Given the description of an element on the screen output the (x, y) to click on. 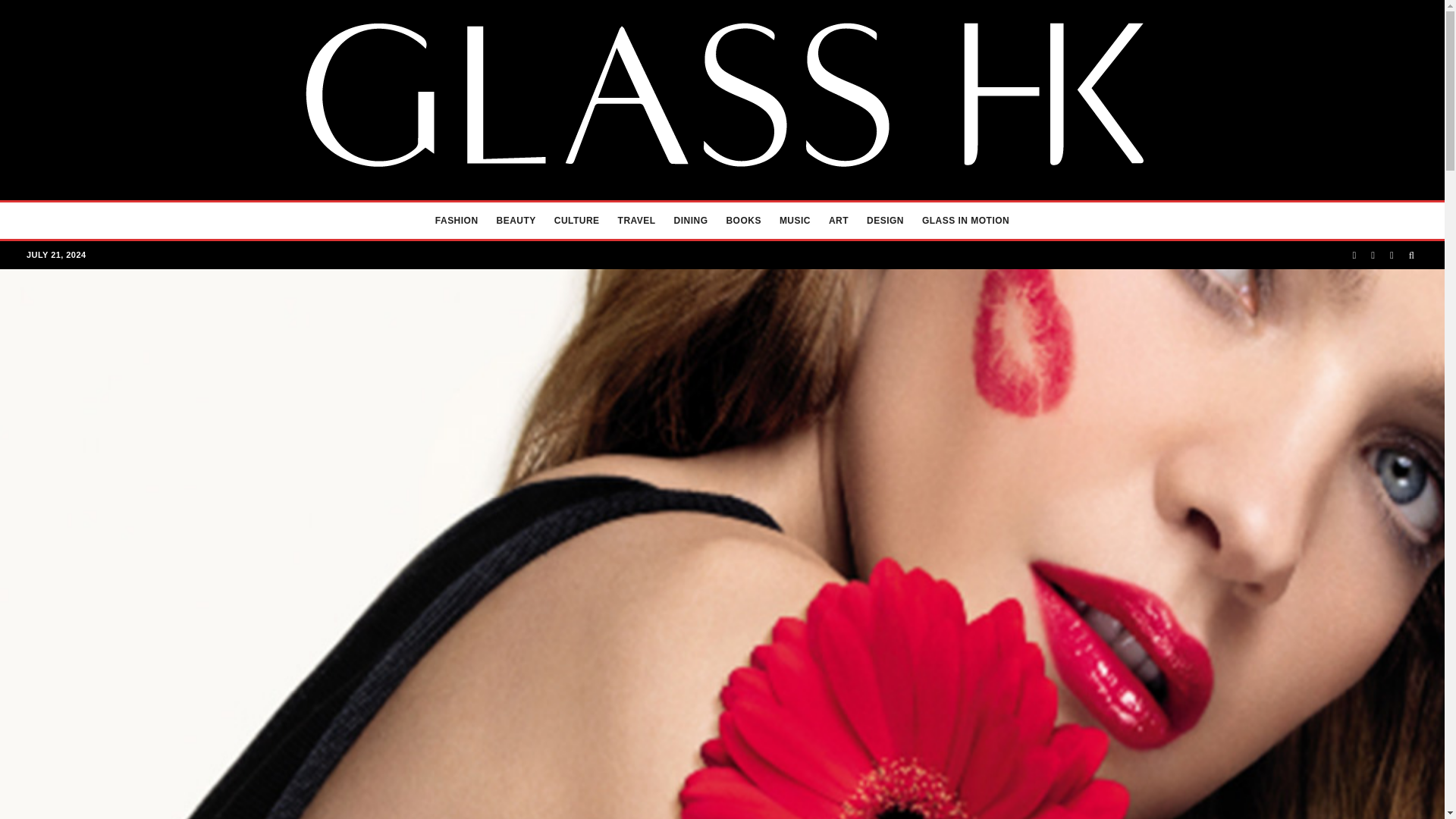
FASHION (456, 220)
TRAVEL (636, 220)
CULTURE (576, 220)
BEAUTY (515, 220)
